Given the description of an element on the screen output the (x, y) to click on. 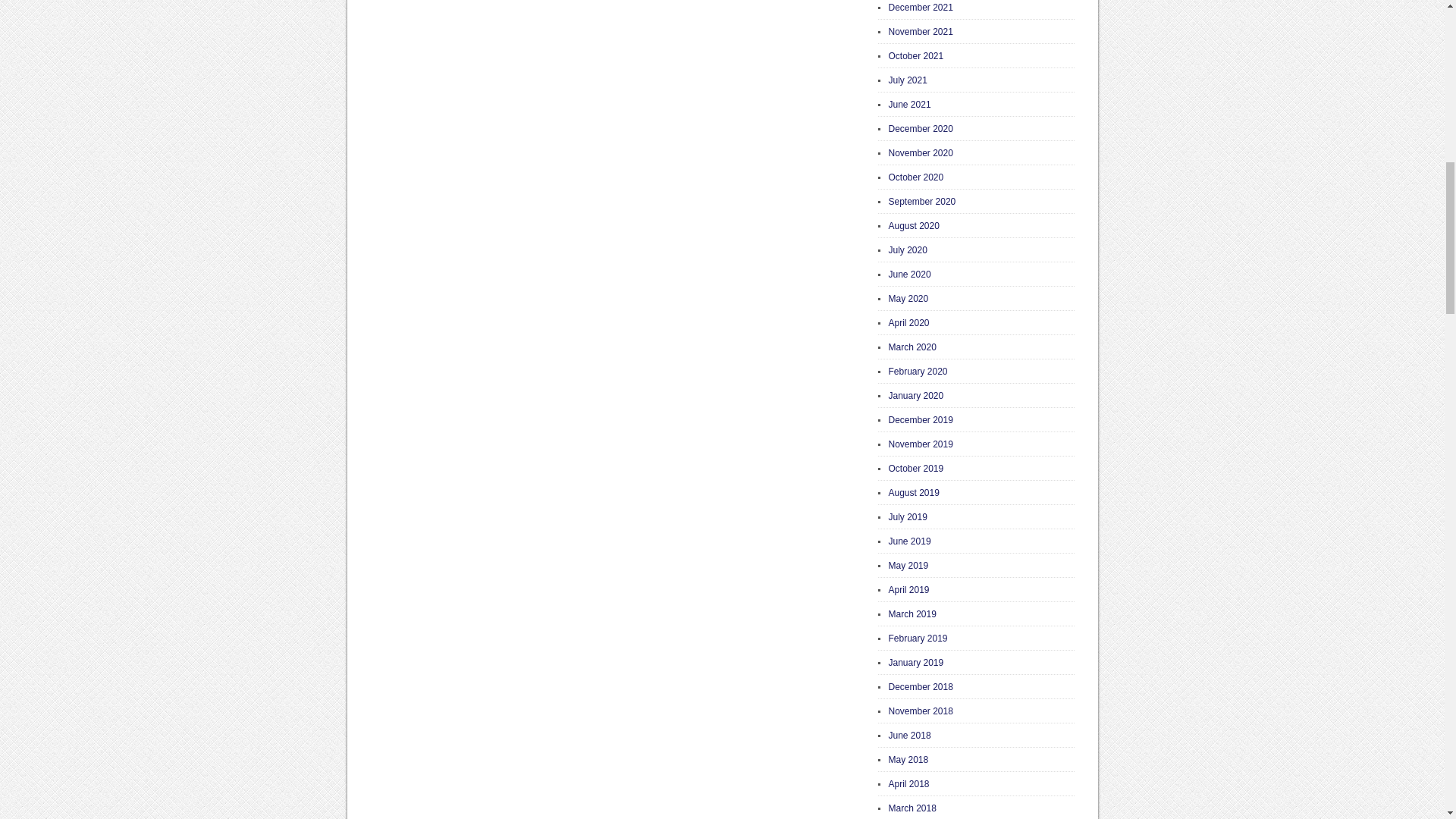
September 2020 (922, 201)
July 2020 (907, 249)
June 2021 (909, 104)
March 2020 (912, 347)
December 2020 (920, 128)
January 2020 (915, 395)
February 2020 (917, 371)
July 2021 (907, 80)
October 2020 (915, 176)
May 2020 (908, 298)
November 2020 (920, 153)
October 2021 (915, 55)
November 2021 (920, 31)
December 2019 (920, 419)
December 2021 (920, 7)
